Given the description of an element on the screen output the (x, y) to click on. 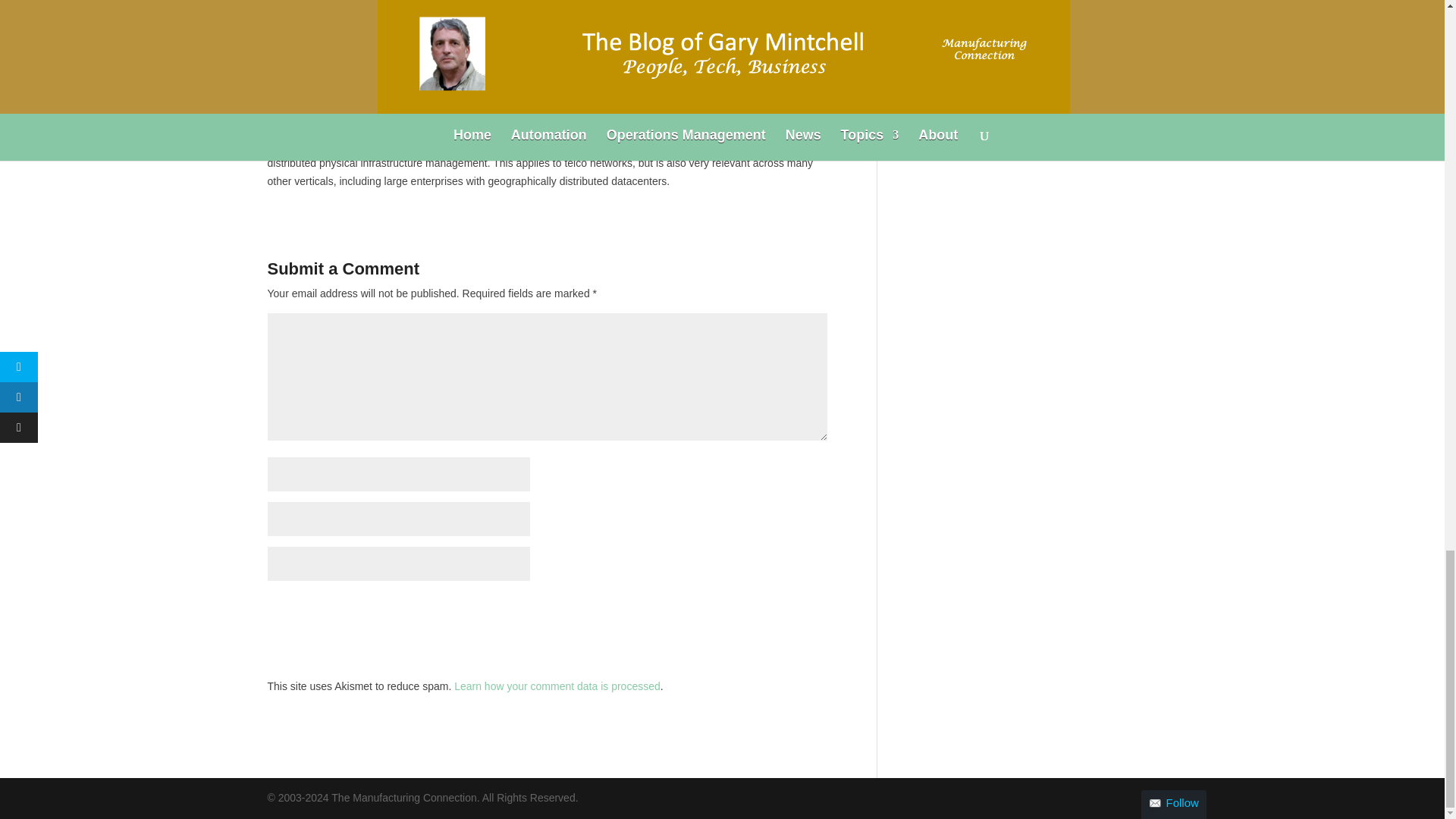
Submit Comment (752, 610)
Learn how your comment data is processed (557, 686)
Submit Comment (752, 610)
